Given the description of an element on the screen output the (x, y) to click on. 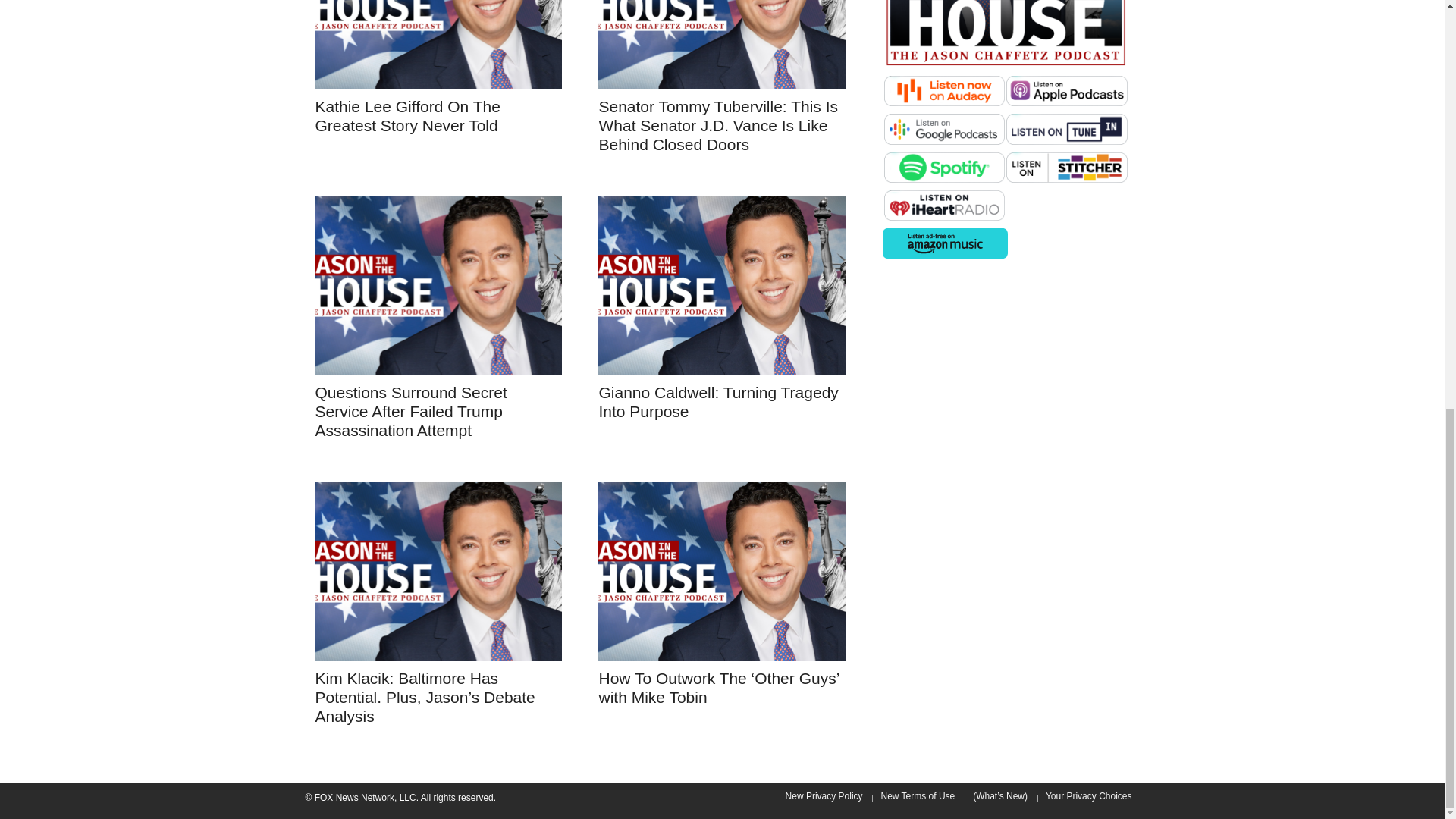
Kathie Lee Gifford On The Greatest Story Never Told (407, 115)
Gianno Caldwell: Turning Tragedy Into Purpose (721, 285)
Kathie Lee Gifford On The Greatest Story Never Told (438, 44)
Gianno Caldwell: Turning Tragedy Into Purpose (718, 402)
